Given the description of an element on the screen output the (x, y) to click on. 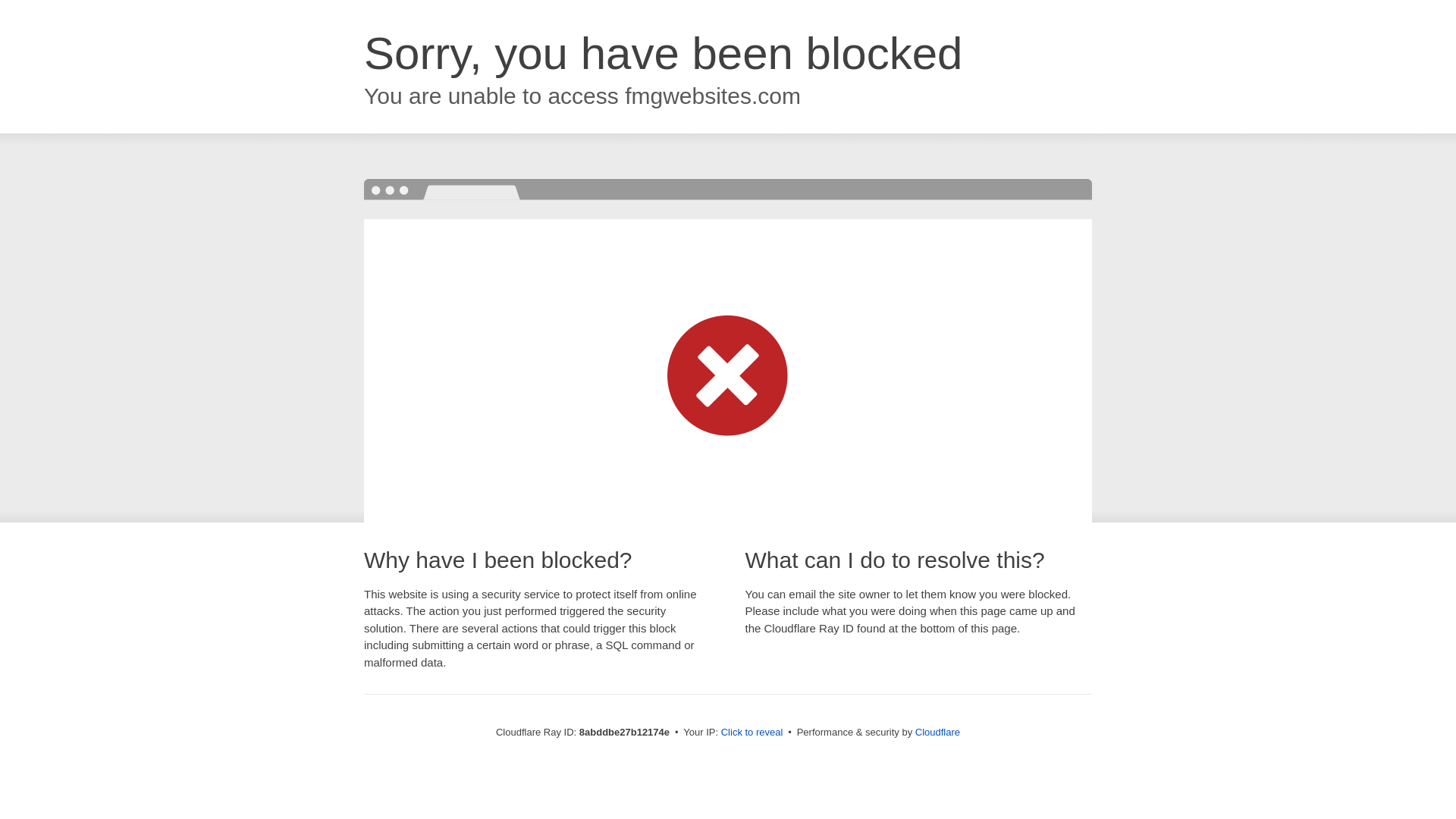
Cloudflare (937, 731)
Click to reveal (751, 732)
